Given the description of an element on the screen output the (x, y) to click on. 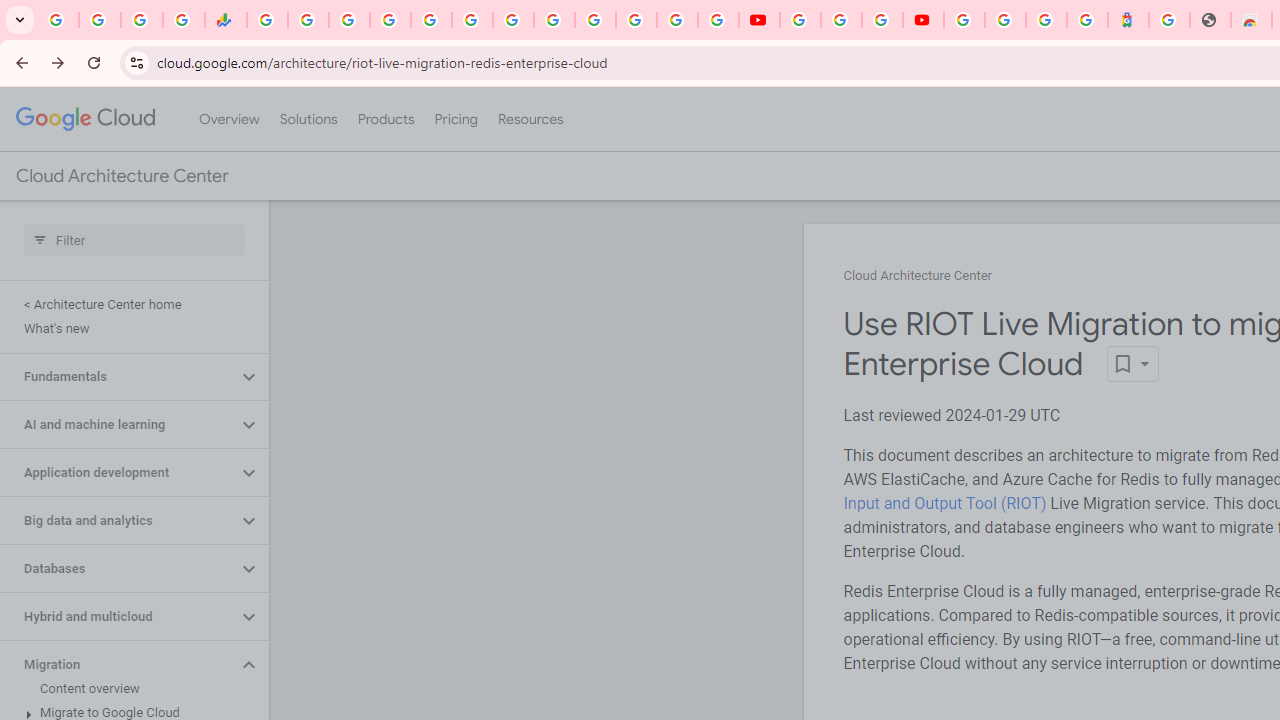
Databases (118, 569)
Google Cloud (84, 118)
Atour Hotel - Google hotels (1128, 20)
Cloud Architecture Center (917, 276)
Create your Google Account (881, 20)
Content Creator Programs & Opportunities - YouTube Creators (923, 20)
Google Workspace Admin Community (58, 20)
Application development (118, 472)
